Given the description of an element on the screen output the (x, y) to click on. 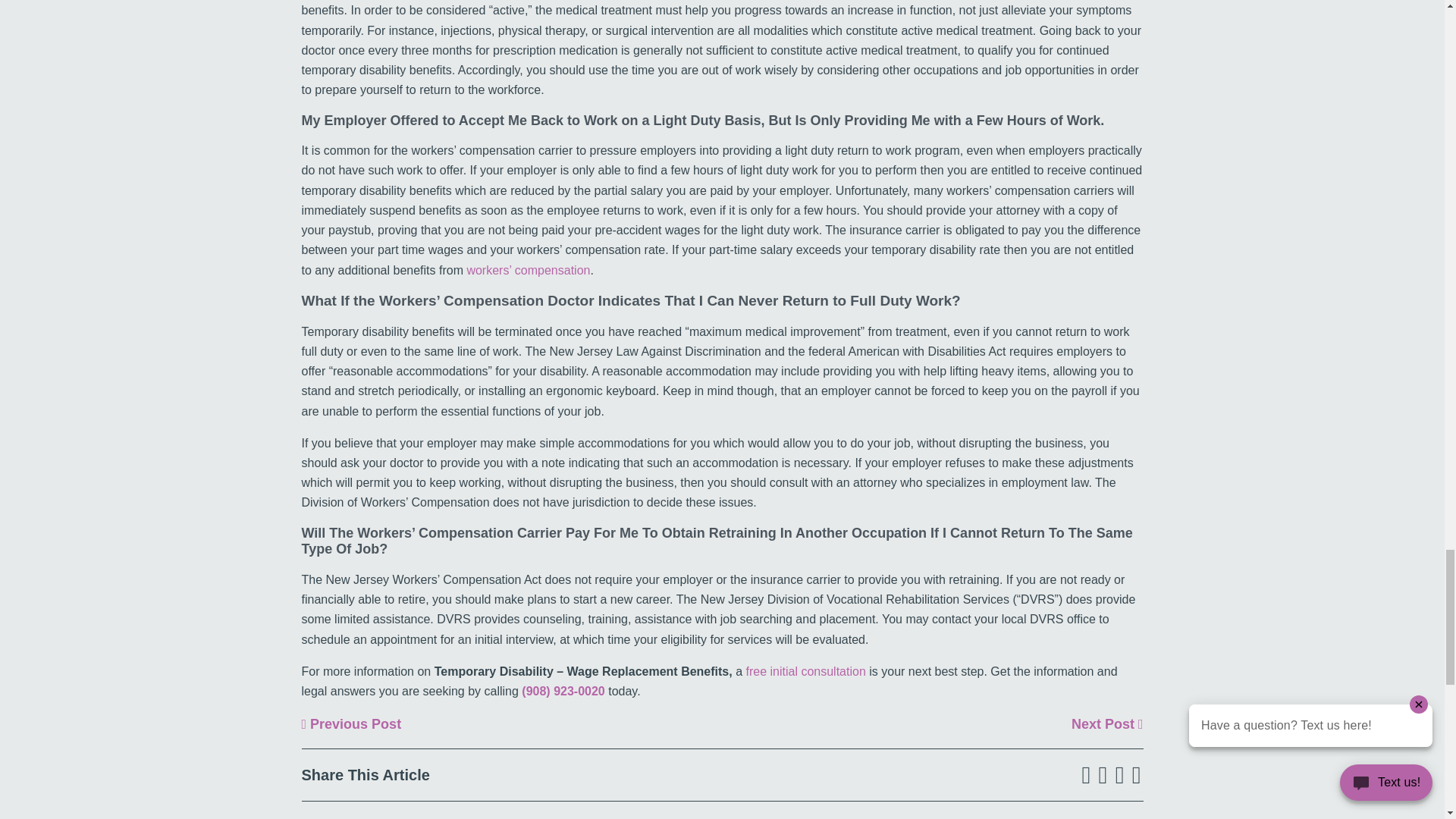
Twitter (1102, 774)
E-Mail (1135, 774)
LinkedIn (1119, 774)
Facebook (1085, 774)
